Given the description of an element on the screen output the (x, y) to click on. 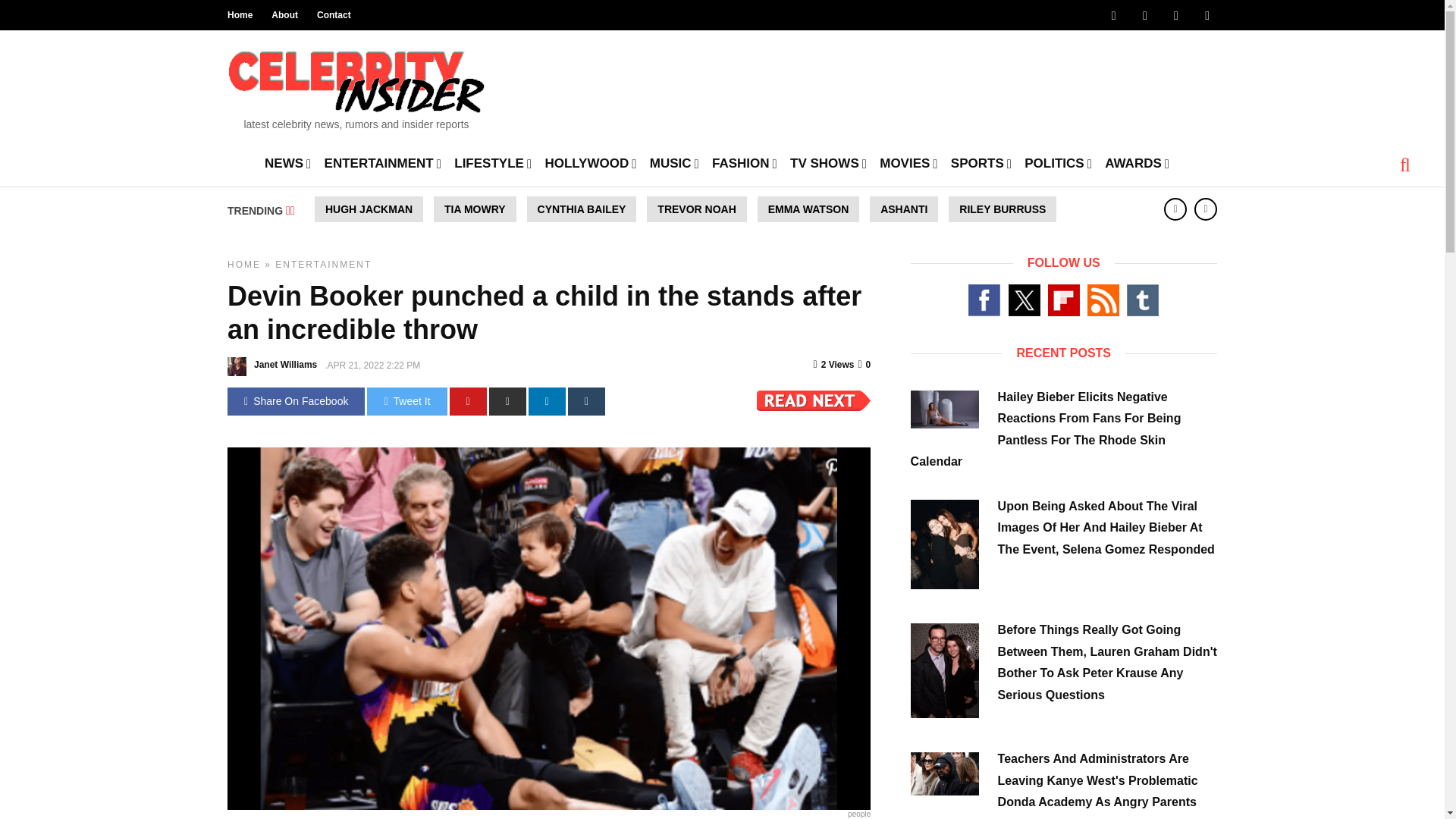
Home (239, 14)
About (284, 14)
Contact (333, 14)
NEWS (287, 162)
ENTERTAINMENT (382, 162)
latest celebrity news, rumors and insider reports (355, 84)
